Given the description of an element on the screen output the (x, y) to click on. 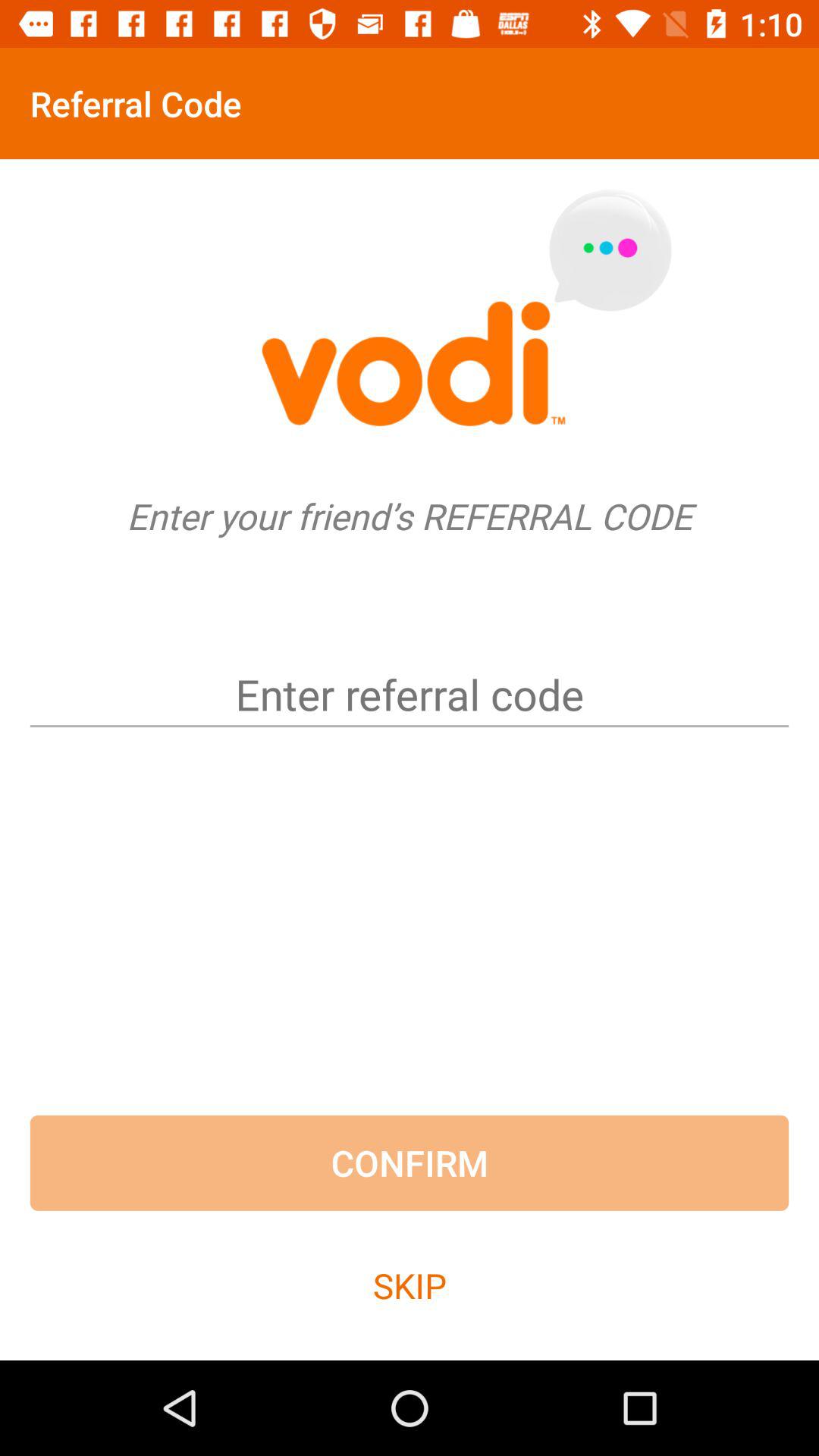
swipe to confirm item (409, 1162)
